Given the description of an element on the screen output the (x, y) to click on. 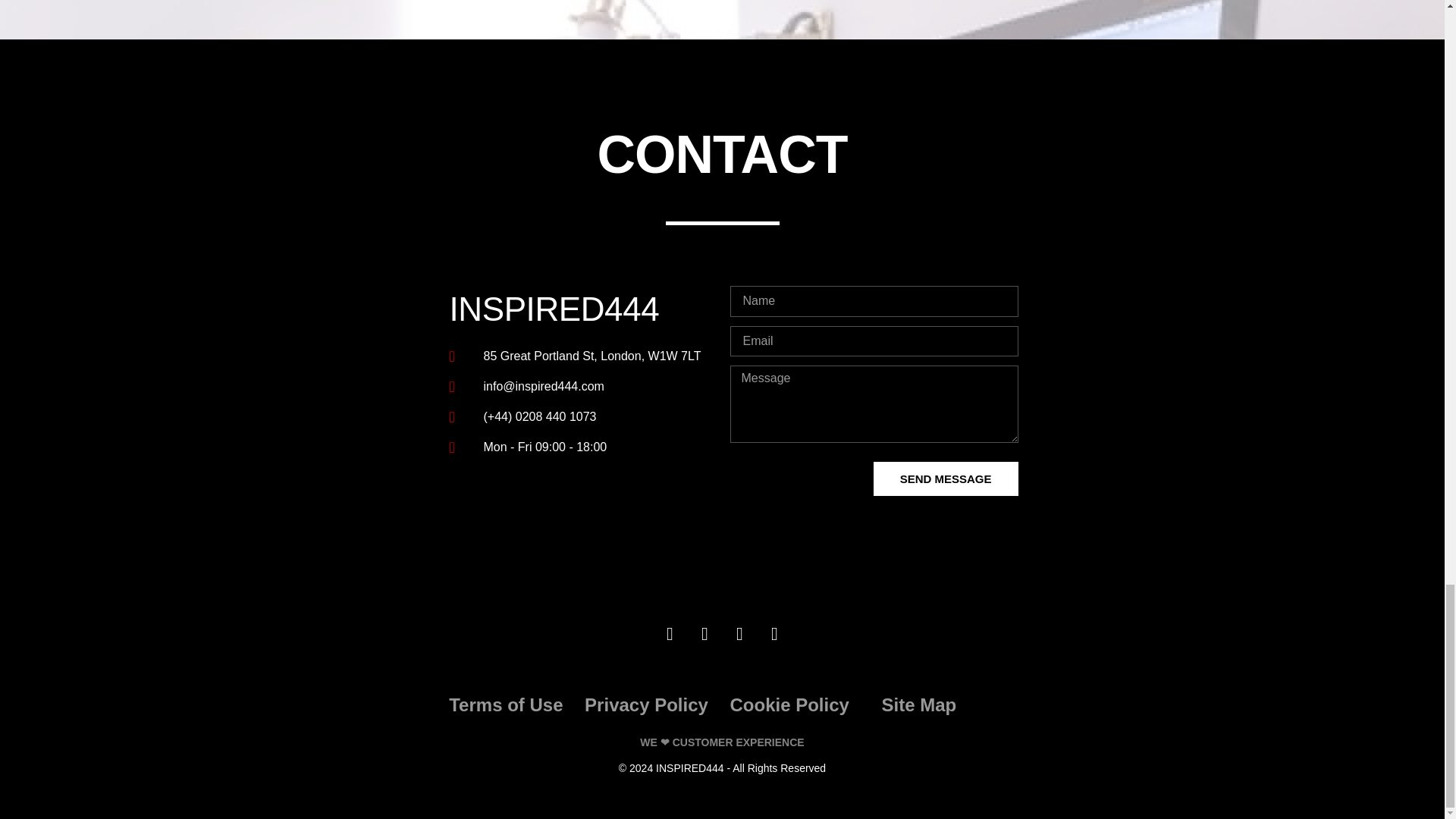
Site Map (918, 704)
Terms of Use (505, 704)
Privacy Policy (646, 704)
SEND MESSAGE (945, 478)
Cookie Policy (788, 704)
